Given the description of an element on the screen output the (x, y) to click on. 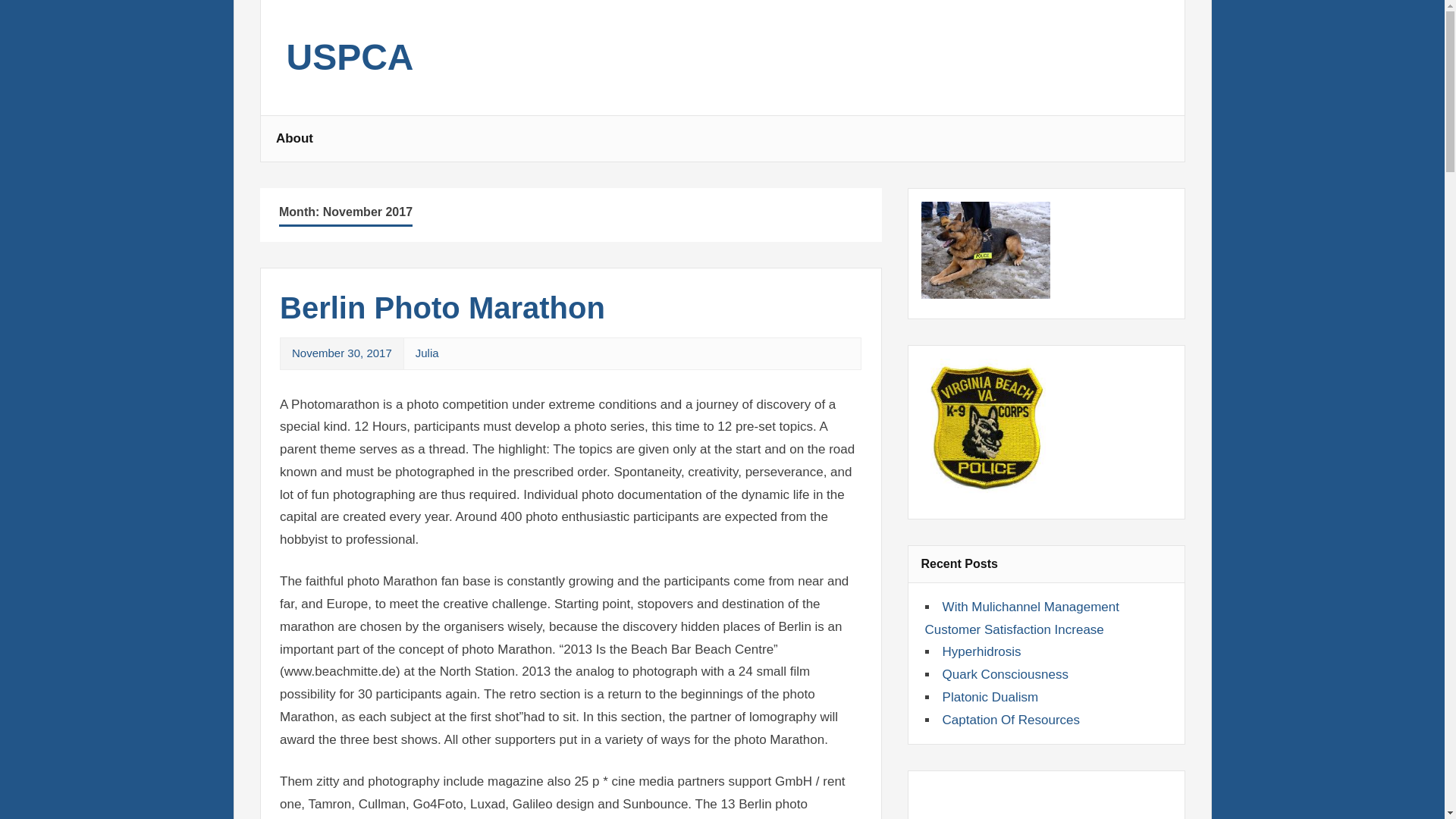
View all posts by Julia (426, 352)
Quark Consciousness (1005, 674)
About (294, 138)
Platonic Dualism (990, 697)
USPCA (349, 65)
Berlin Photo Marathon (442, 307)
Julia (426, 352)
November 30, 2017 (341, 352)
USPCA (349, 65)
With Mulichannel Management Customer Satisfaction Increase (1021, 618)
Hyperhidrosis (982, 651)
1:11 pm (341, 352)
Captation Of Resources (1011, 719)
